Given the description of an element on the screen output the (x, y) to click on. 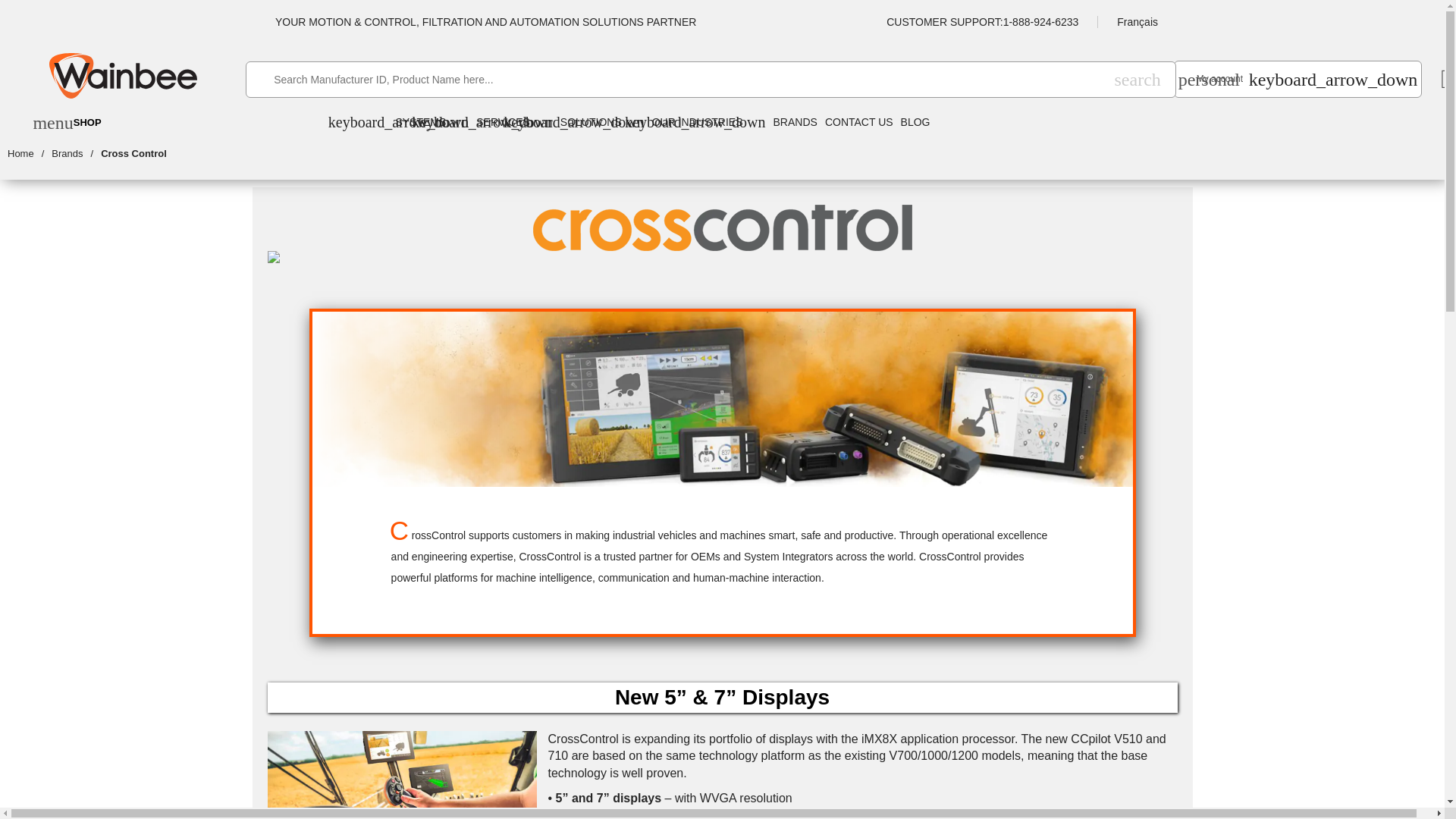
Search (1137, 78)
SOLUTIONS (602, 121)
1-888-924-6233 (1040, 21)
Brands (1210, 79)
Go to Home Page (75, 154)
Wainbee Limited Online  (28, 154)
search (66, 122)
SYSTEMS (122, 75)
SERVICES (1137, 78)
OUR INDUSTRIES (431, 121)
